Given the description of an element on the screen output the (x, y) to click on. 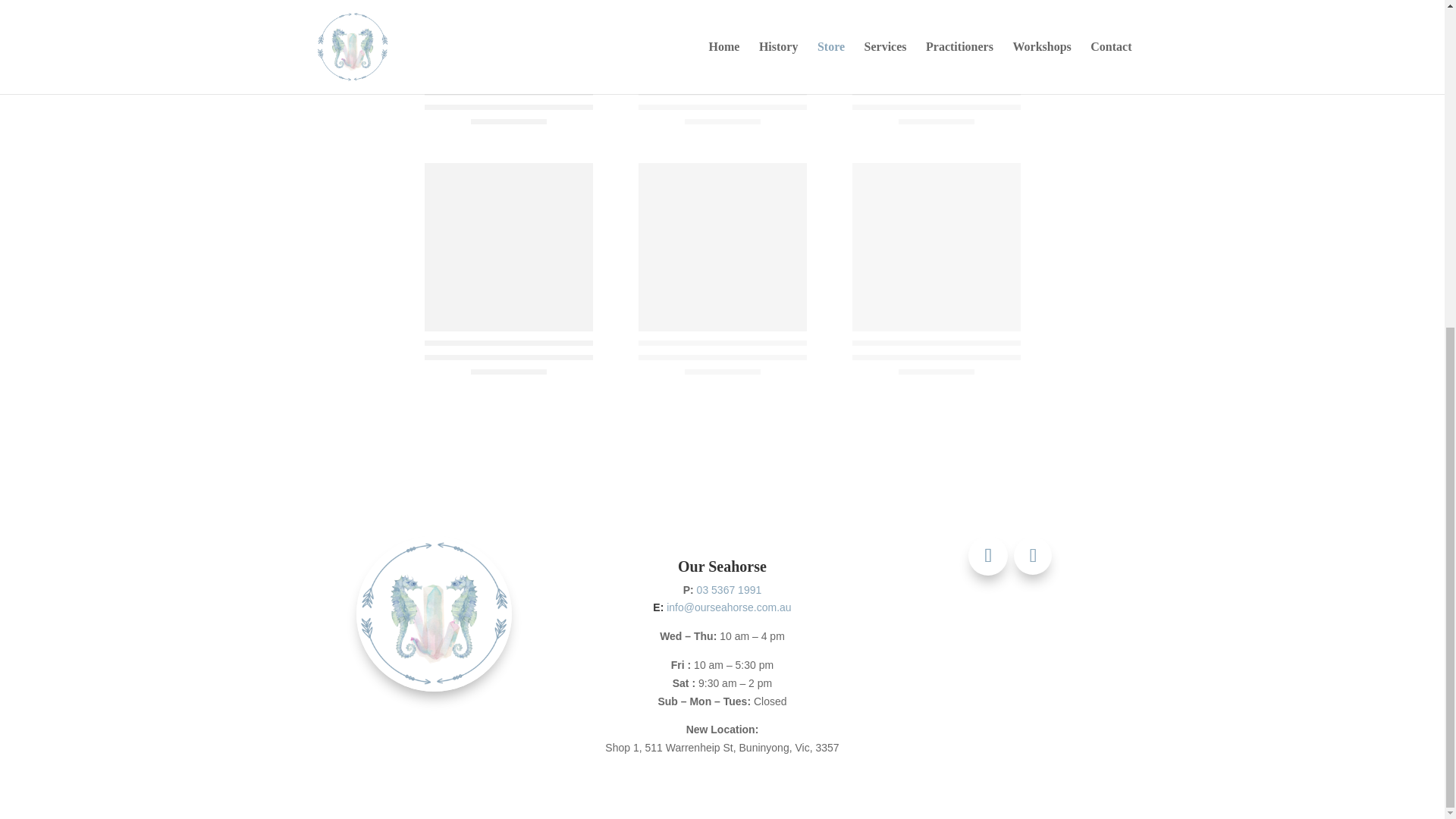
Follow on Facebook (987, 555)
Follow on Instagram (1032, 555)
WP Logo 600px (434, 613)
03 5367 1991 (729, 589)
